Given the description of an element on the screen output the (x, y) to click on. 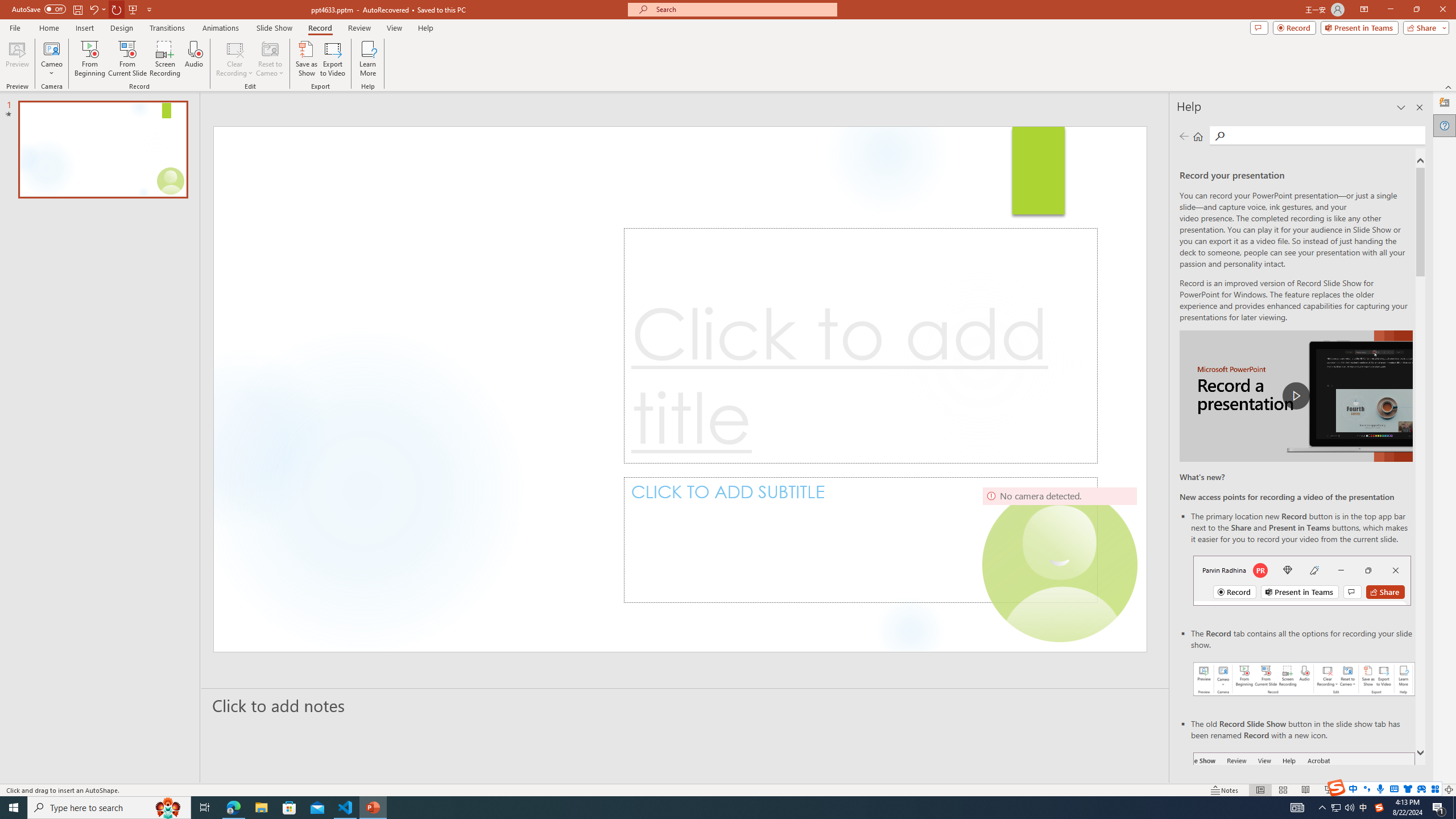
Designer (1444, 102)
Design (122, 28)
From Beginning (133, 9)
Close (1442, 9)
Help (1444, 125)
Reading View (1305, 790)
Insert (83, 28)
Redo (117, 9)
Zoom In (1412, 790)
Quick Access Toolbar (82, 9)
Record (320, 28)
From Current Slide... (127, 58)
Share (1423, 27)
Present in Teams (1359, 27)
